Given the description of an element on the screen output the (x, y) to click on. 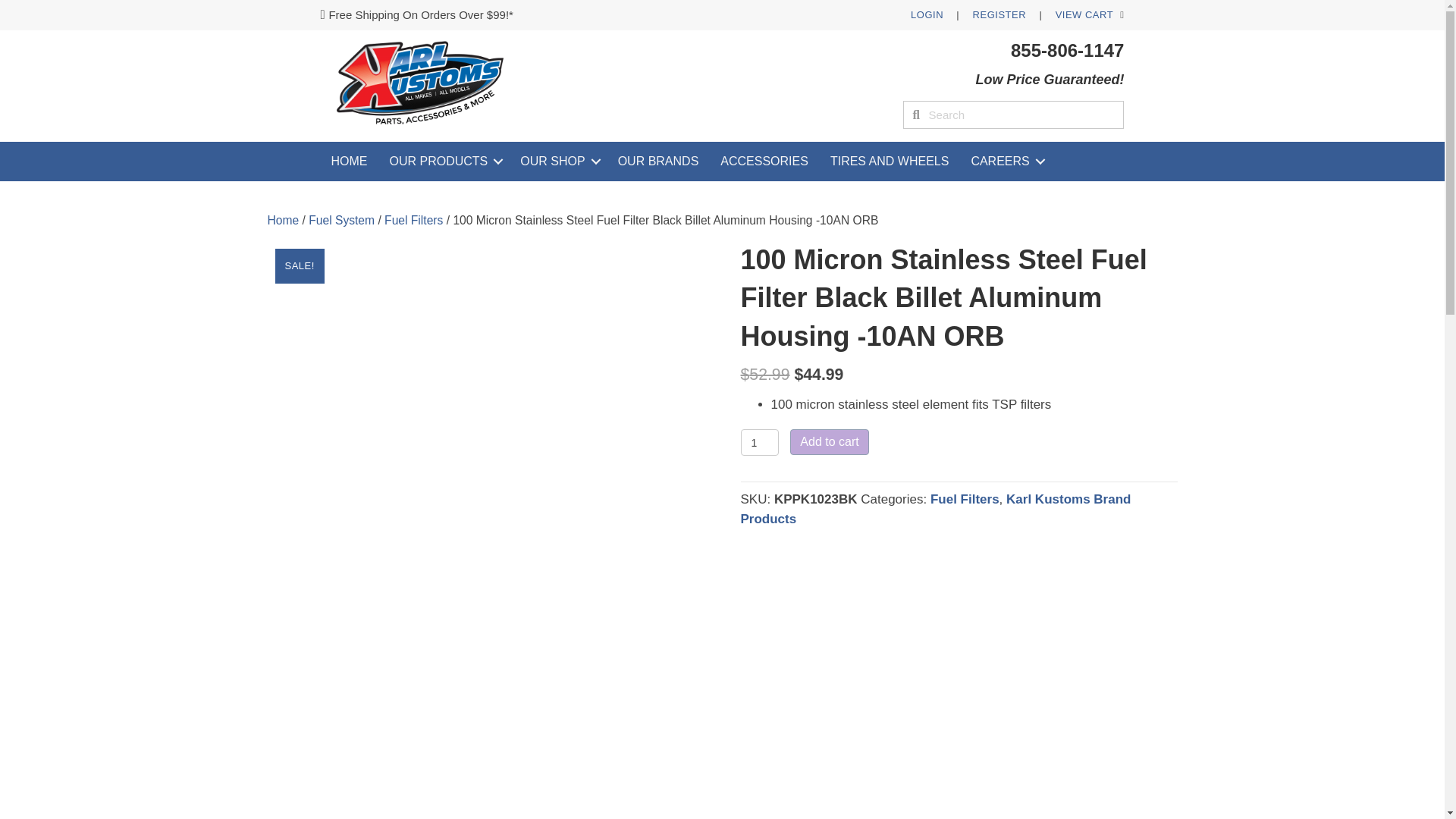
VIEW CART (1084, 14)
1 (758, 442)
Search (1022, 114)
REGISTER (999, 14)
LOGIN (927, 14)
OUR PRODUCTS (443, 160)
HOME (348, 160)
karl-logo (421, 85)
